Given the description of an element on the screen output the (x, y) to click on. 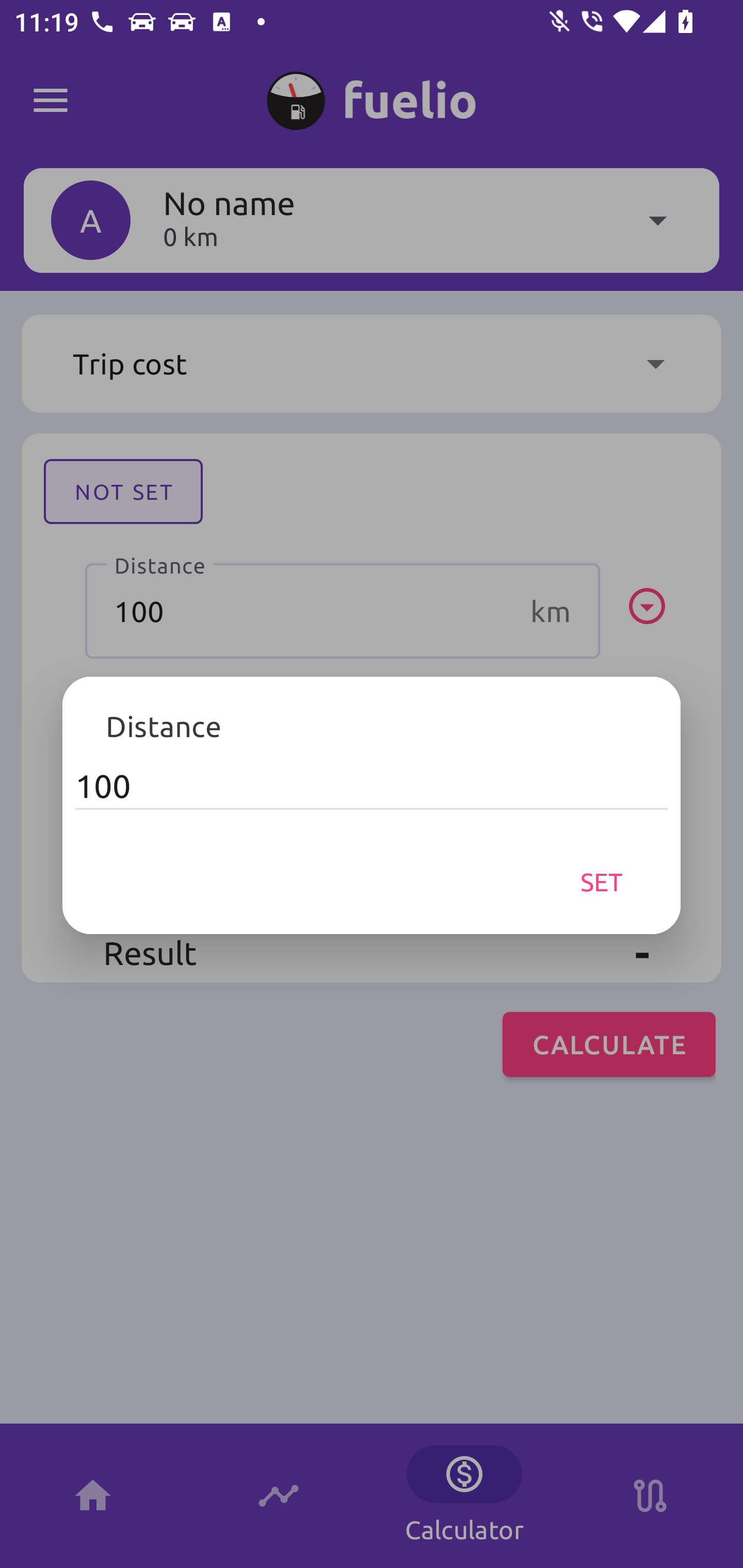
100 (371, 785)
SET (601, 880)
